Given the description of an element on the screen output the (x, y) to click on. 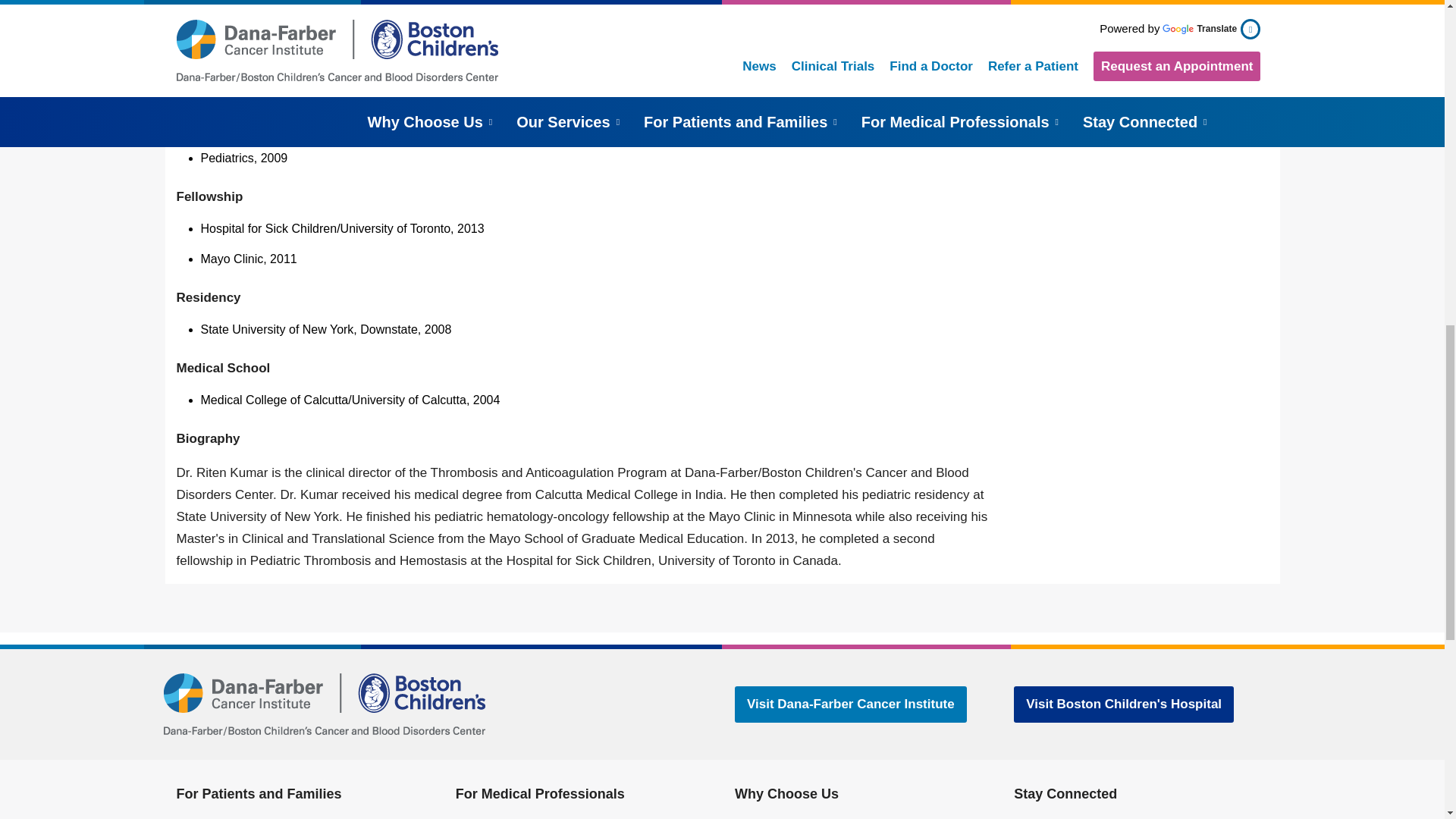
Visit Boston Children's Hospital (1123, 704)
Our Affiliations (1114, 9)
Visit Dana-Farber Cancer Institute (850, 704)
